Given the description of an element on the screen output the (x, y) to click on. 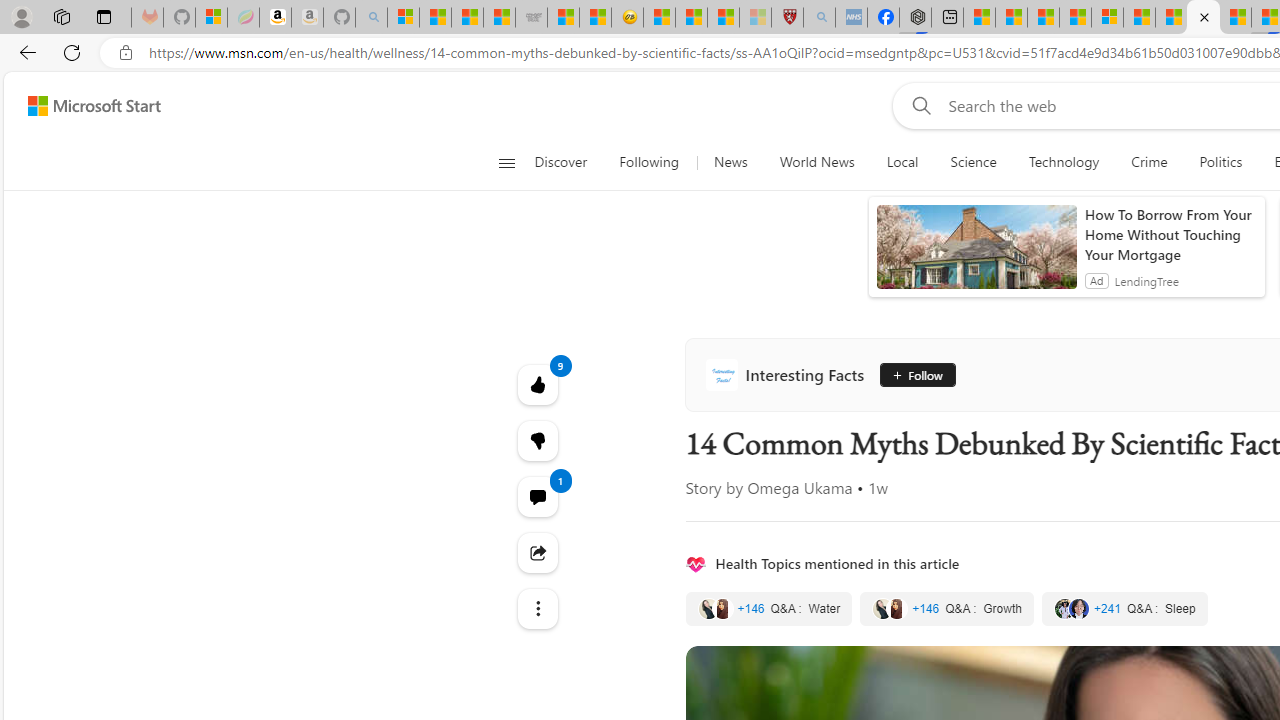
Combat Siege (530, 17)
Crime (1149, 162)
Robert H. Shmerling, MD - Harvard Health (786, 17)
How To Borrow From Your Home Without Touching Your Mortgage (1170, 234)
Crime (1149, 162)
Local (902, 162)
View comments 1 Comment (537, 496)
